Given the description of an element on the screen output the (x, y) to click on. 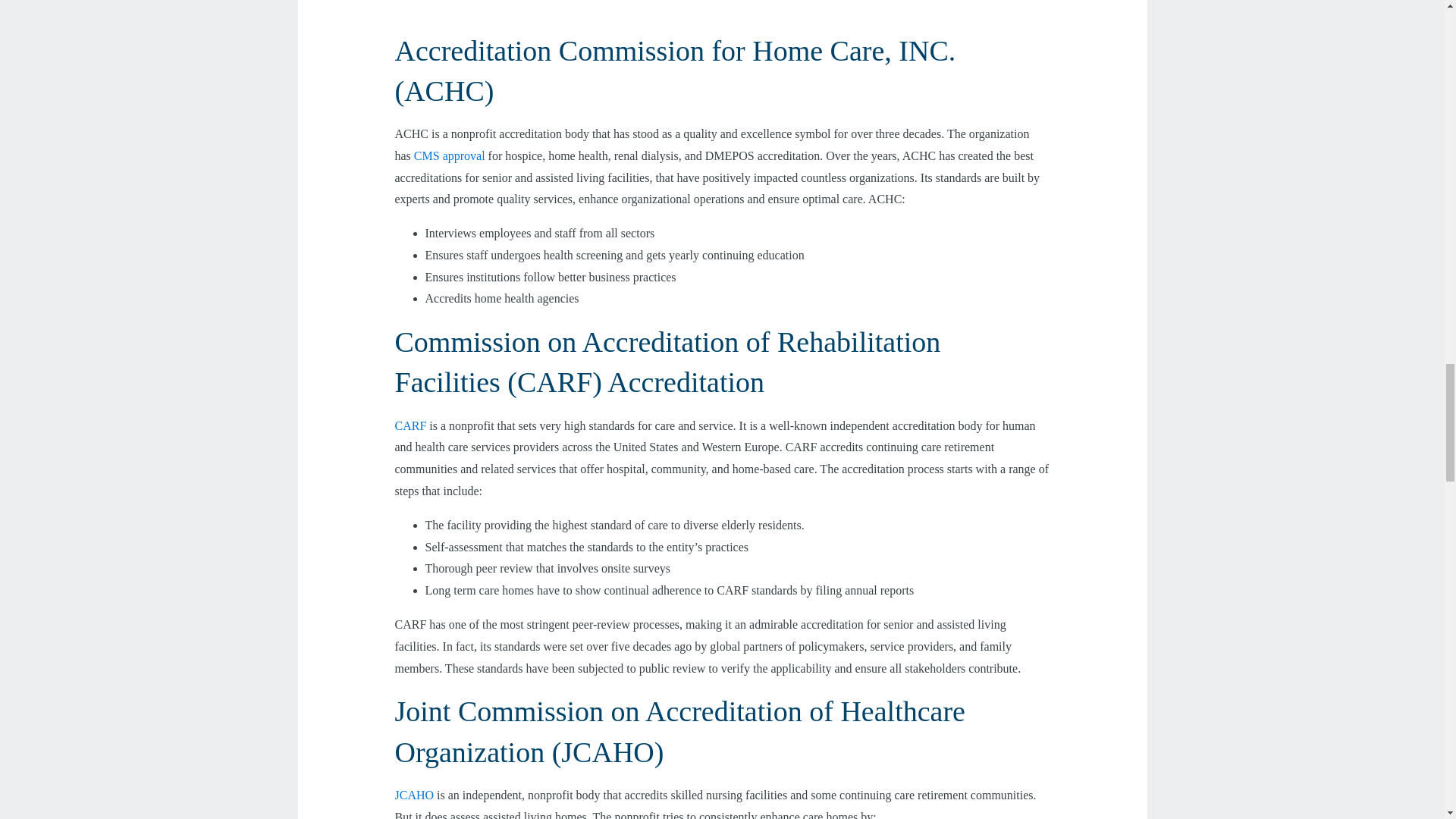
CMS approval (448, 155)
JCAHO (413, 794)
CARF (410, 425)
